Given the description of an element on the screen output the (x, y) to click on. 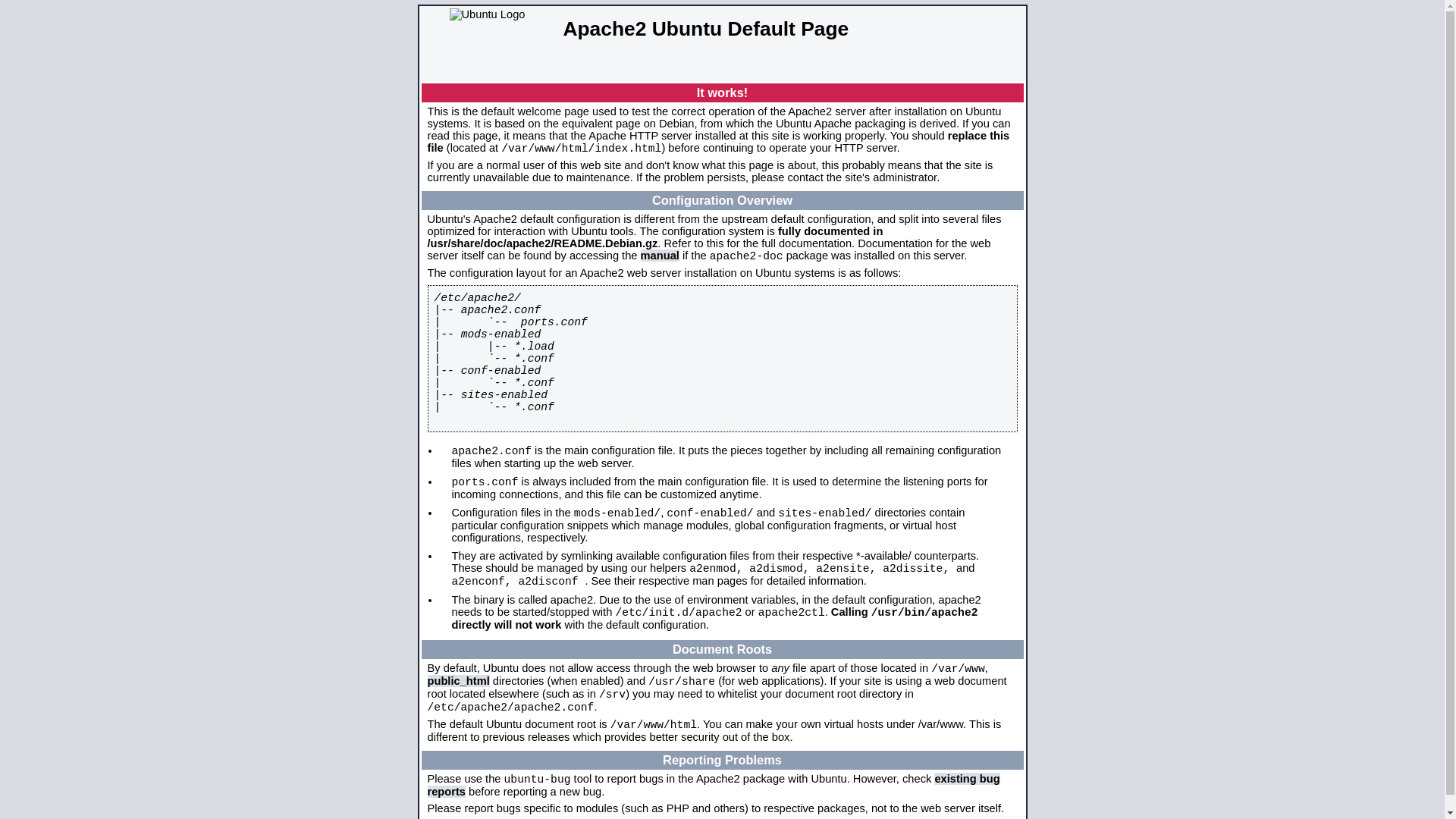
public_html Element type: text (458, 680)
manual Element type: text (659, 255)
existing bug reports Element type: text (713, 784)
